Given the description of an element on the screen output the (x, y) to click on. 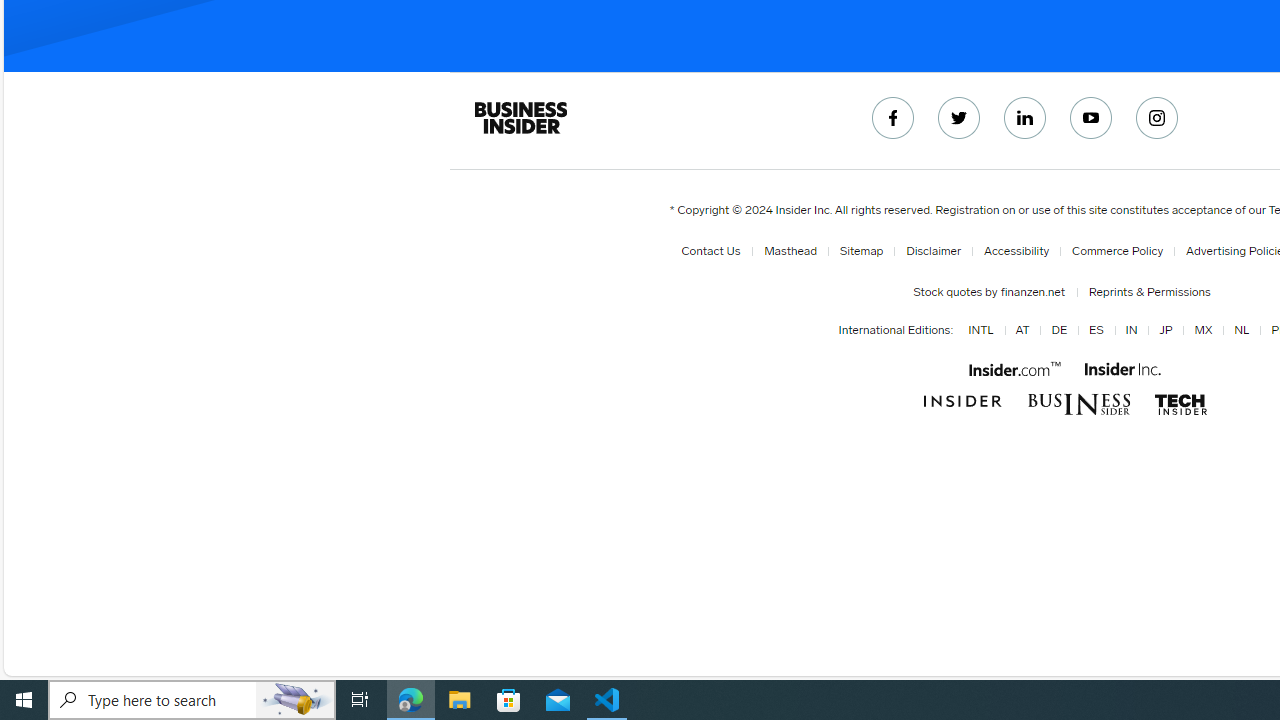
Commerce Policy (1113, 251)
Business Insider (520, 117)
Insider-Inc Logo (1123, 369)
Masthead (786, 251)
Click to visit us on Facebook (893, 117)
Sitemap (857, 251)
Click to visit us on Instagram (1157, 117)
ES (1095, 331)
Accessibility (1012, 251)
JP (1162, 331)
MX (1203, 331)
Contact Us (710, 251)
AT (1018, 331)
INTL (977, 331)
